Given the description of an element on the screen output the (x, y) to click on. 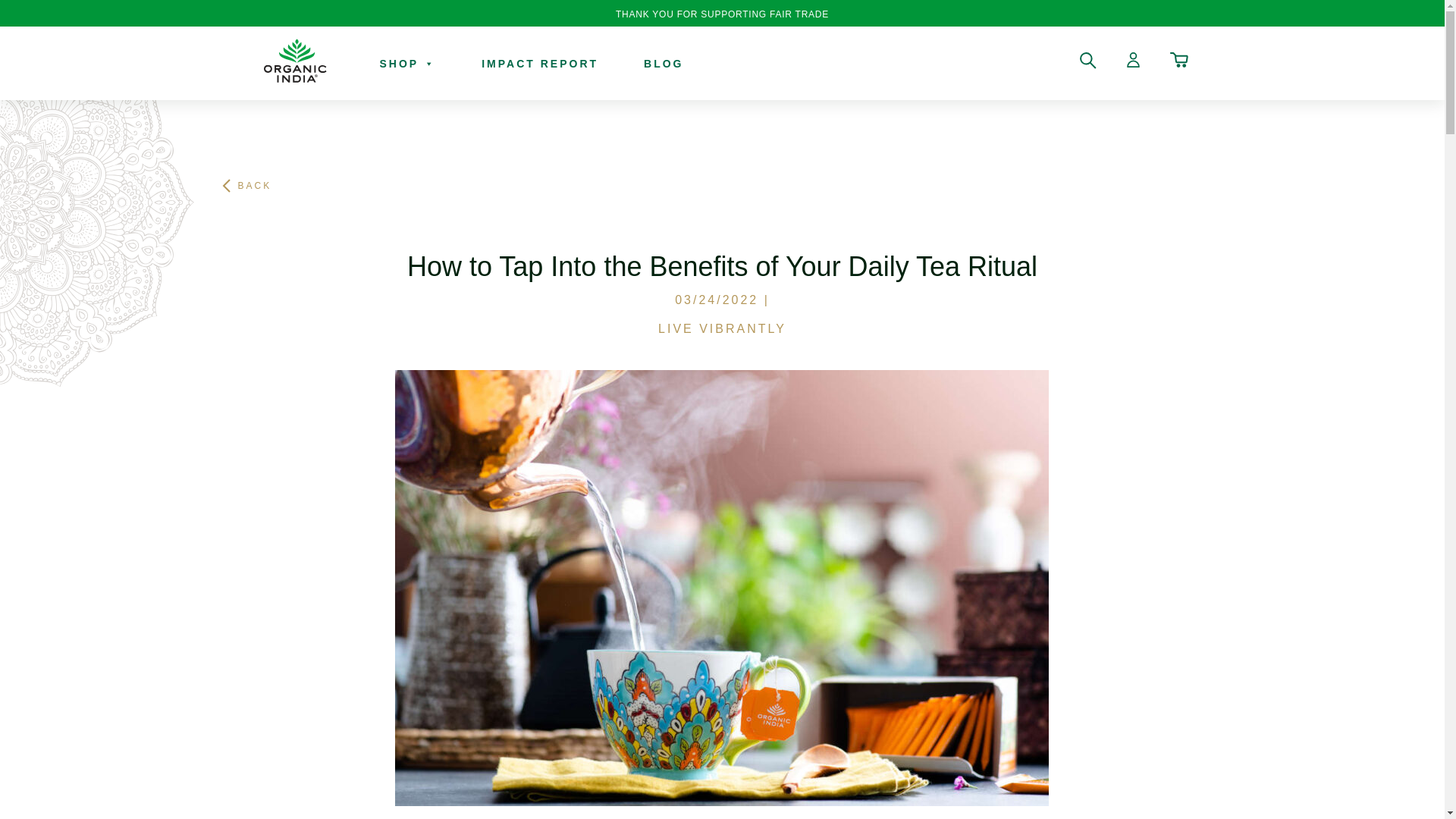
IMPACT REPORT (539, 63)
SHOP (406, 63)
